Given the description of an element on the screen output the (x, y) to click on. 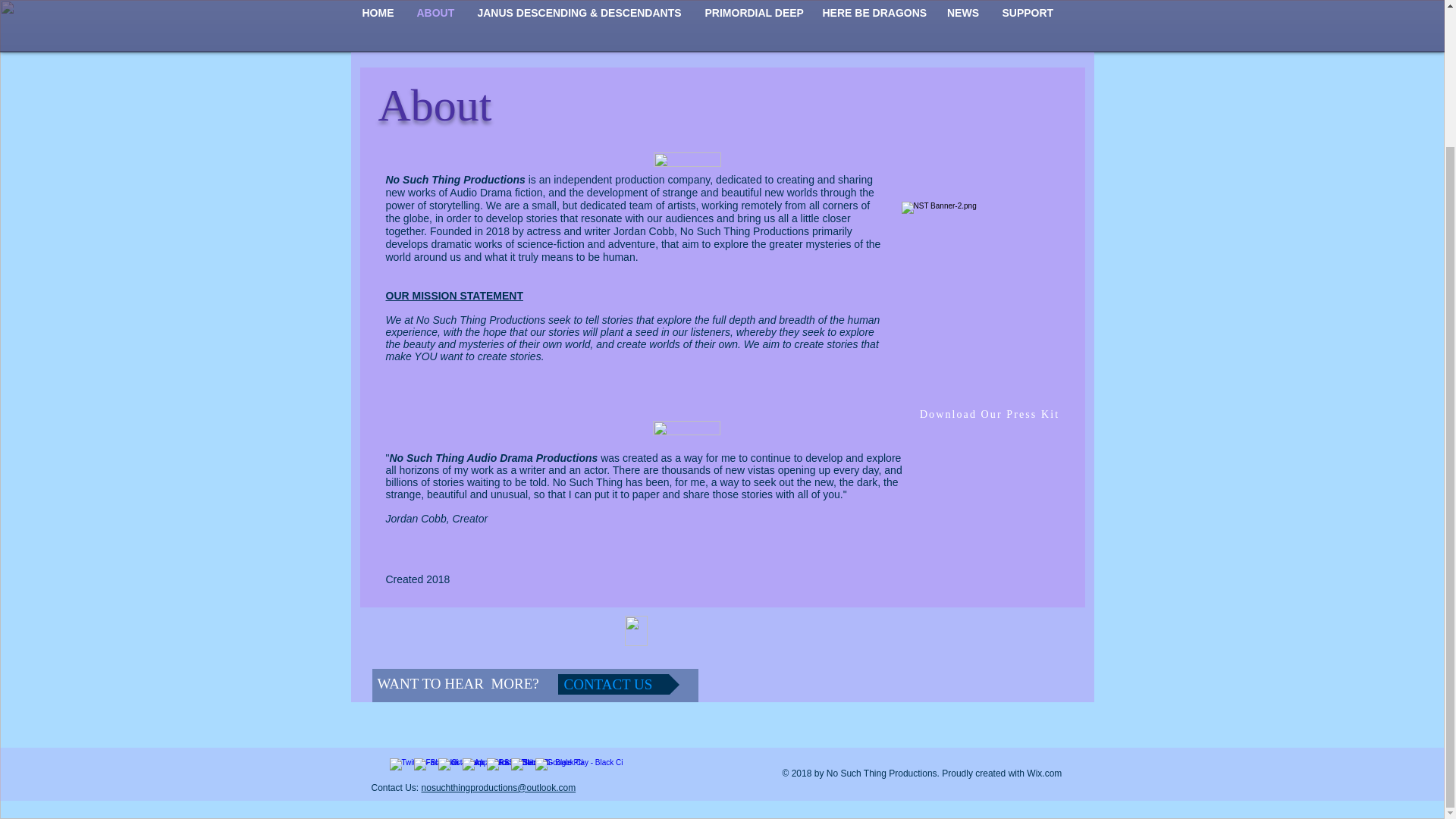
ABOUT (434, 13)
Download Our Press Kit (989, 413)
PRIMORDIAL DEEP (751, 13)
4.png (685, 427)
HERE BE DRAGONS (873, 13)
CONTACT US (618, 684)
HOME (377, 13)
NEWS (963, 13)
SUPPORT (1027, 13)
4.png (686, 159)
